Given the description of an element on the screen output the (x, y) to click on. 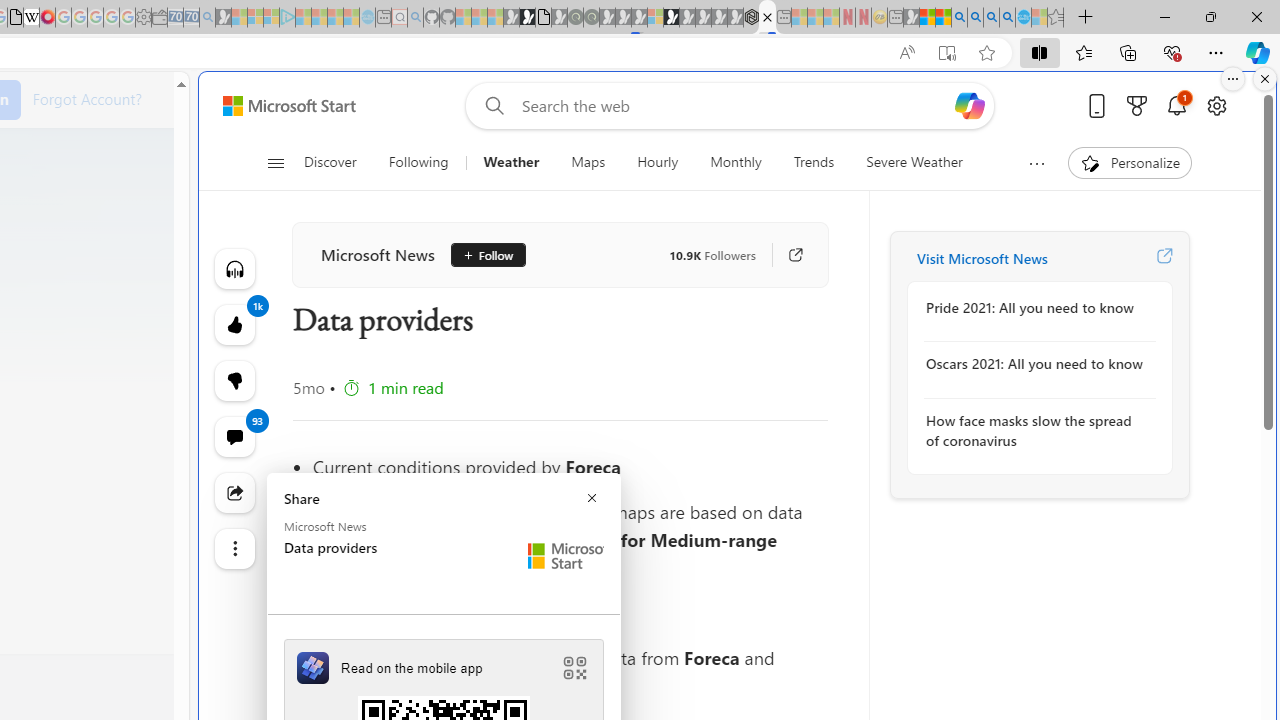
Play Zoo Boom in your browser | Games from Microsoft Start (527, 17)
View comments 93 Comment (234, 436)
Severe Weather (914, 162)
Trends (813, 162)
Data providers (767, 17)
Share this story (234, 492)
Services - Maintenance | Sky Blue Bikes - Sky Blue Bikes (1023, 17)
